Given the description of an element on the screen output the (x, y) to click on. 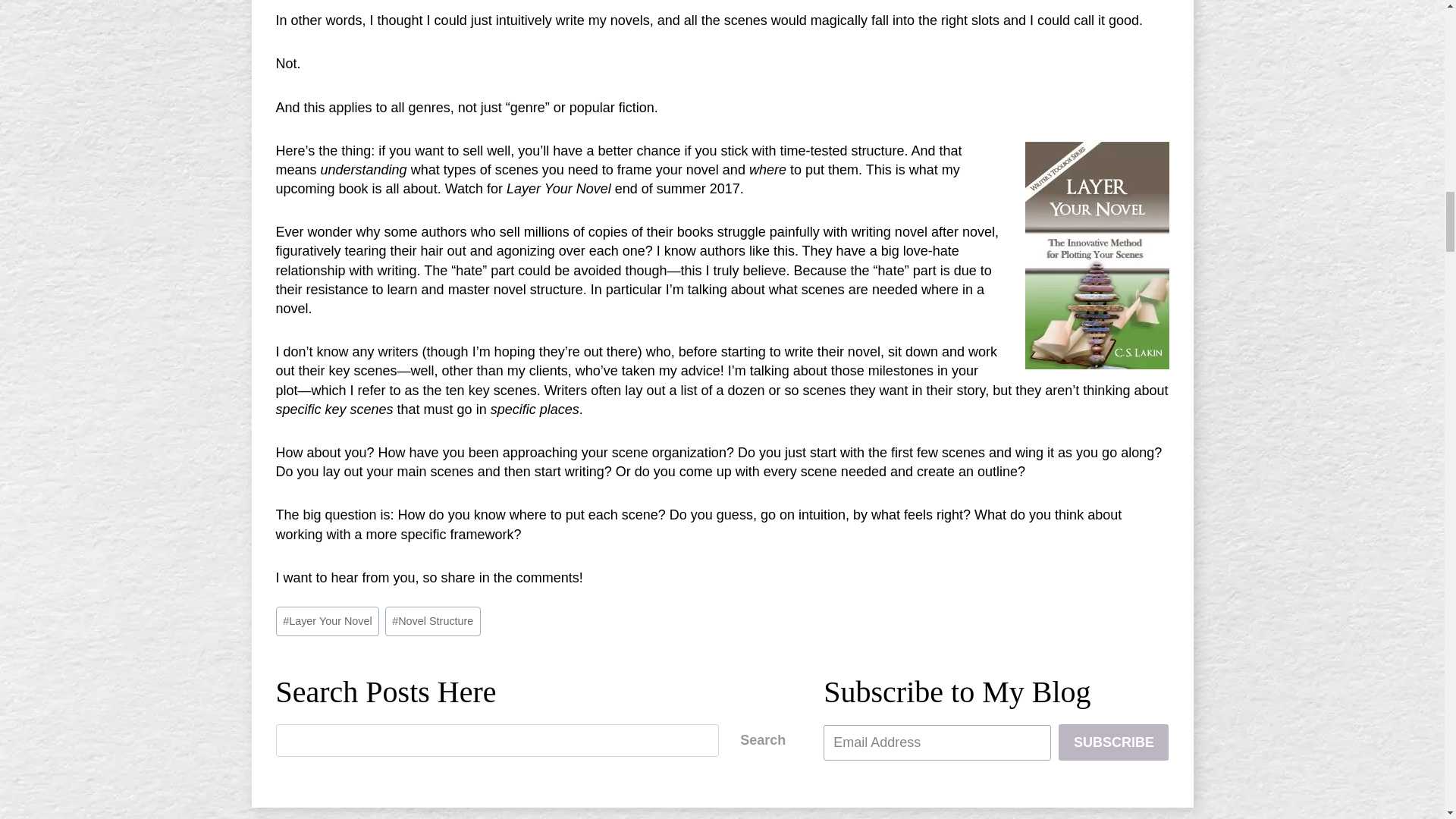
Layer Your Novel (328, 621)
Search (762, 739)
SUBSCRIBE (1113, 741)
Novel Structure (432, 621)
